Given the description of an element on the screen output the (x, y) to click on. 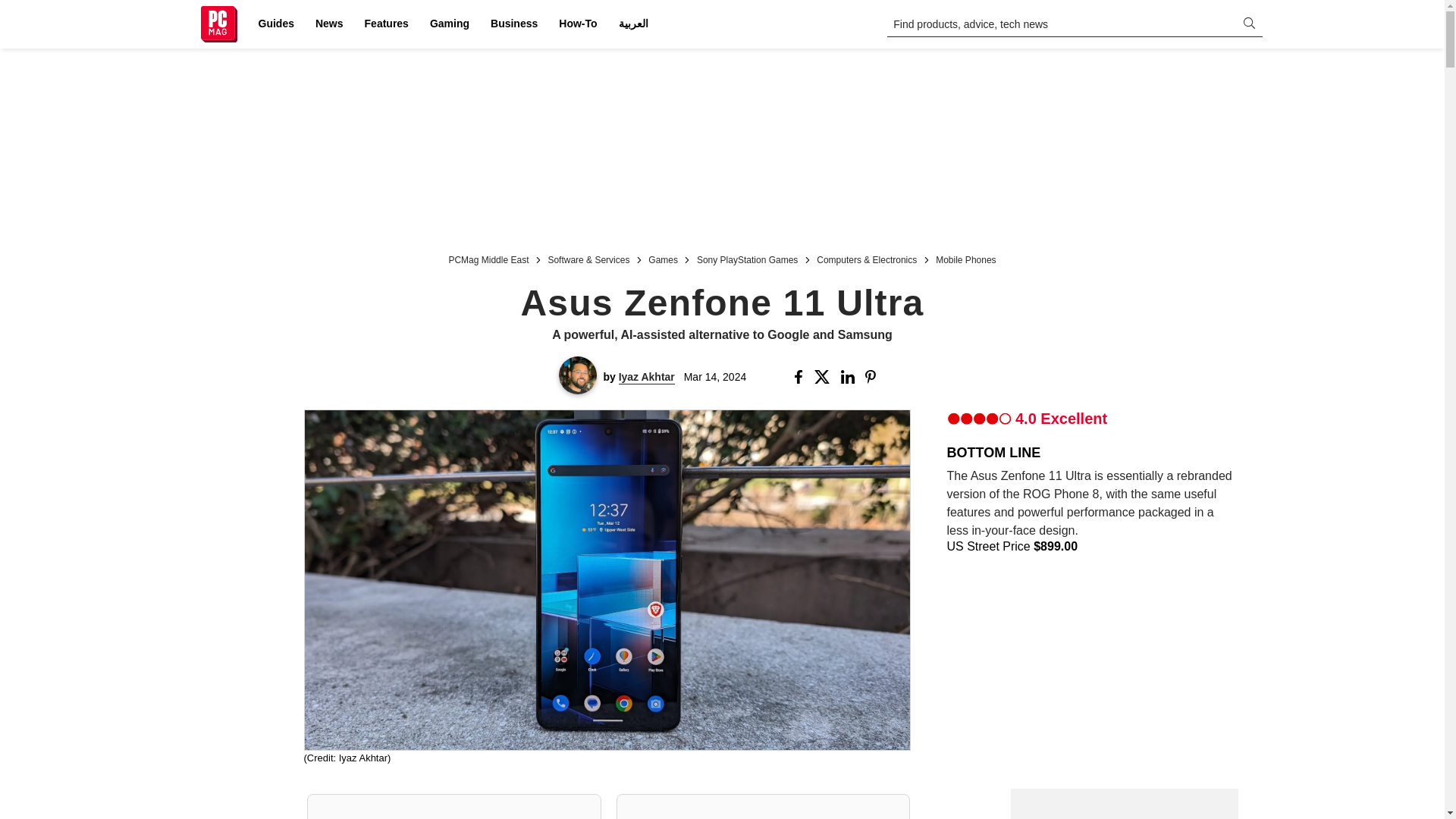
Mobile Phones (965, 258)
Sony PlayStation Games (747, 258)
PCMag Middle East (488, 258)
Gaming (449, 24)
Business (513, 24)
Search (21, 7)
How-To (577, 24)
Guides (275, 24)
Features (386, 24)
Share this Story on Pinterest (874, 377)
Share this Story on X (823, 377)
Share this Story on Linkedin (850, 377)
Games (662, 258)
Iyaz Akhtar (646, 377)
